Given the description of an element on the screen output the (x, y) to click on. 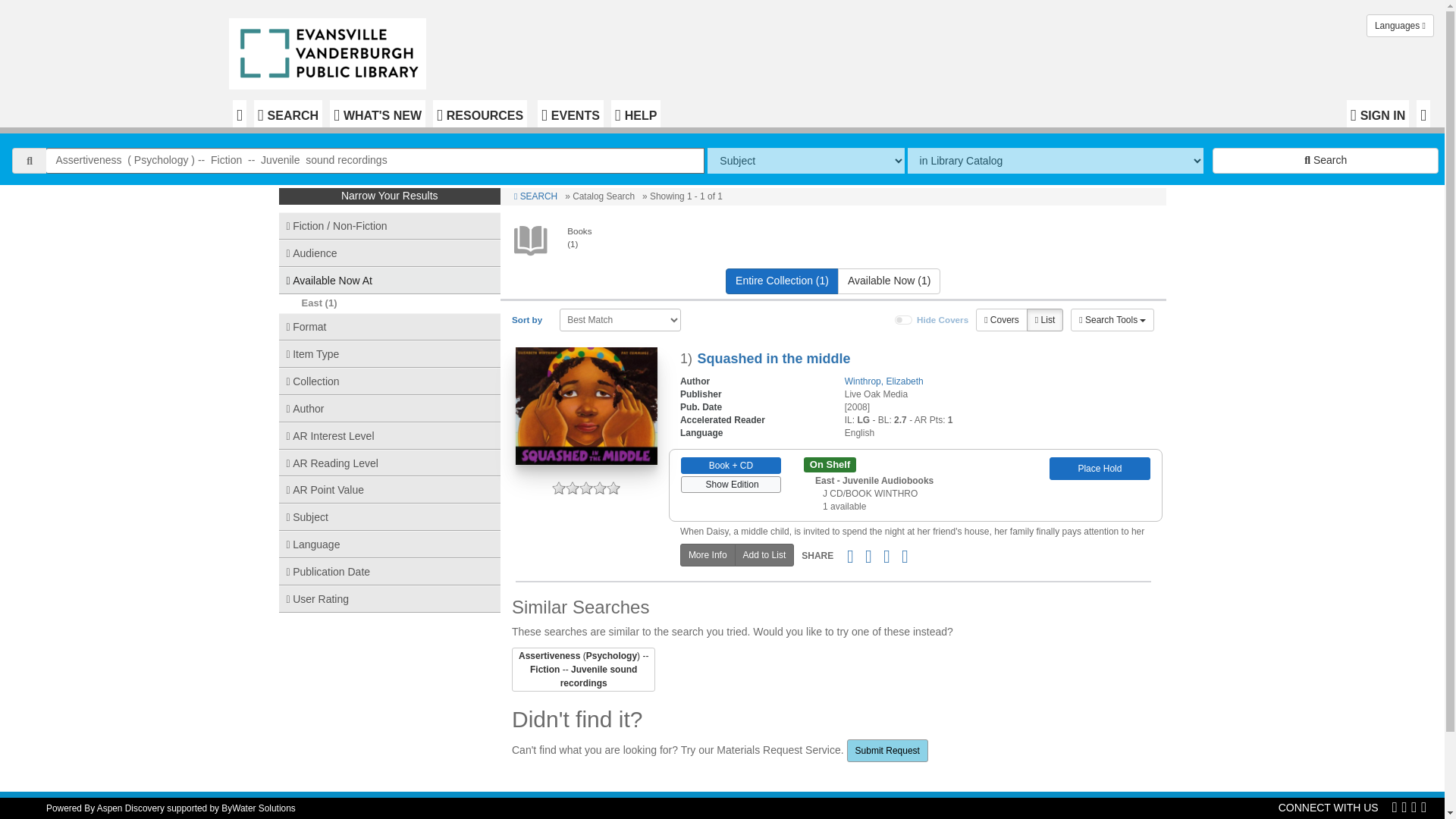
WHAT'S NEW (377, 113)
EVENTS (570, 113)
HELP (636, 113)
SIGN IN (1377, 113)
Login (1377, 113)
Library Home Page (330, 49)
East (311, 302)
on (903, 319)
Languages  (1400, 25)
The method of searching. (805, 160)
SEARCH (287, 113)
RESOURCES (479, 113)
 Search (1325, 160)
